Given the description of an element on the screen output the (x, y) to click on. 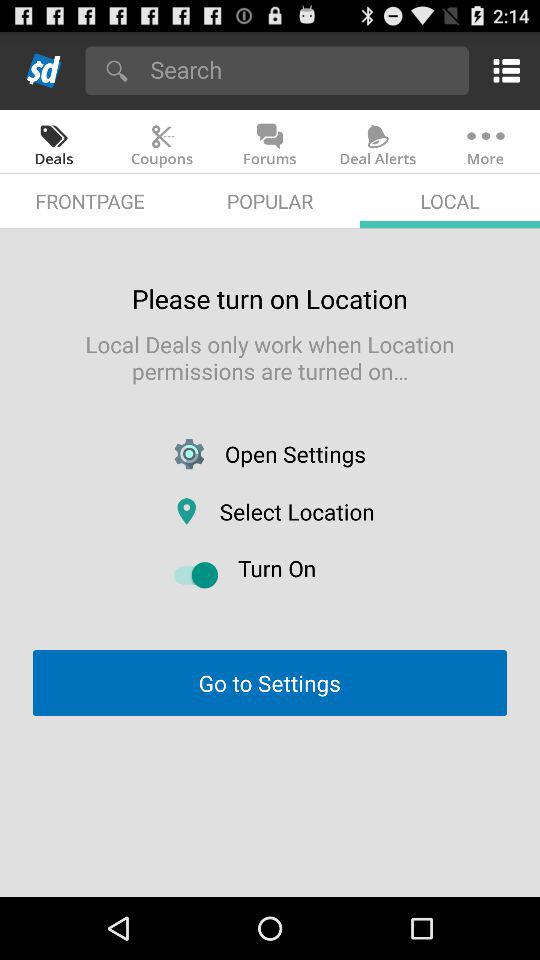
swipe until go to settings item (269, 682)
